Given the description of an element on the screen output the (x, y) to click on. 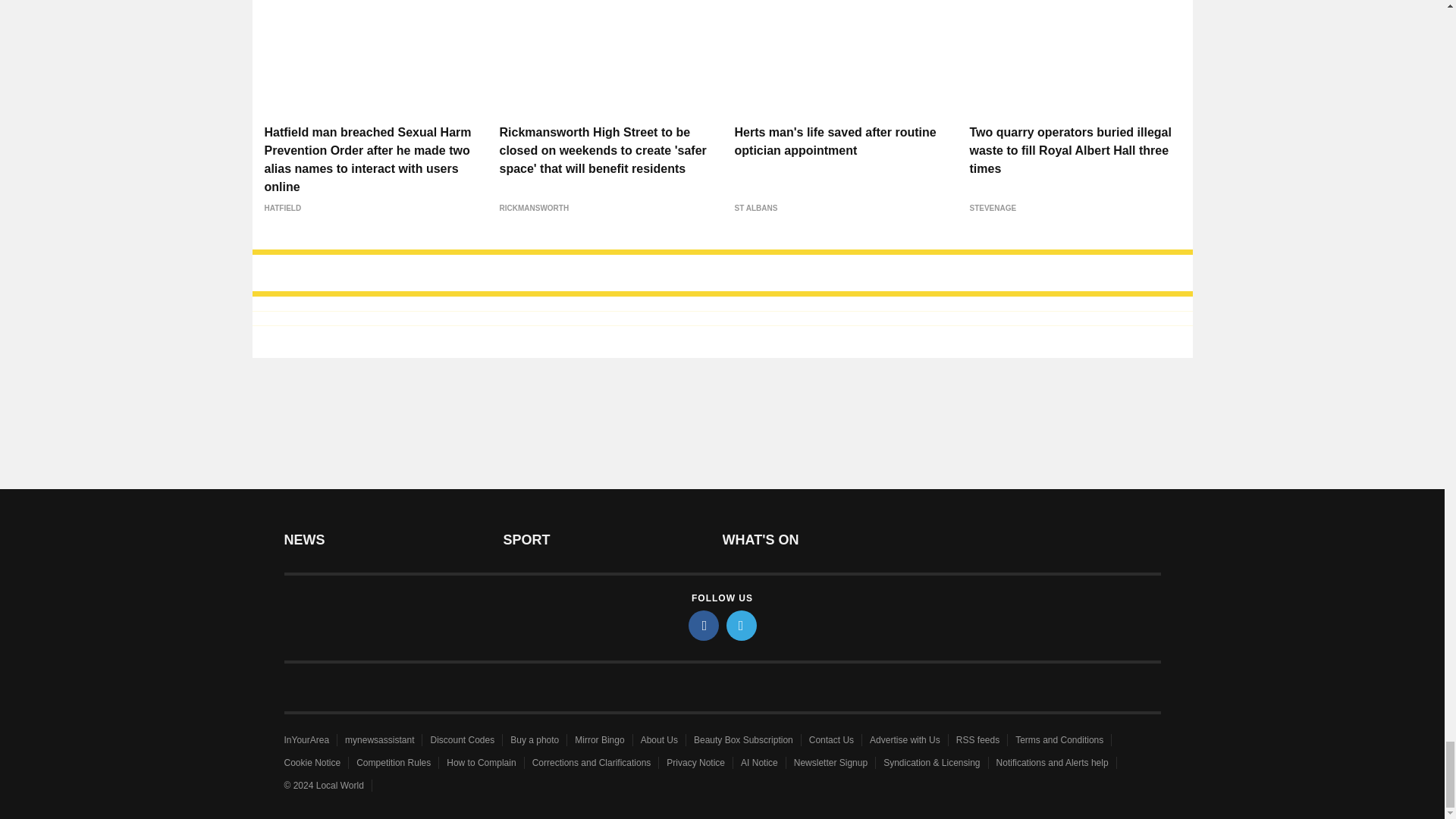
facebook (703, 625)
twitter (741, 625)
